Given the description of an element on the screen output the (x, y) to click on. 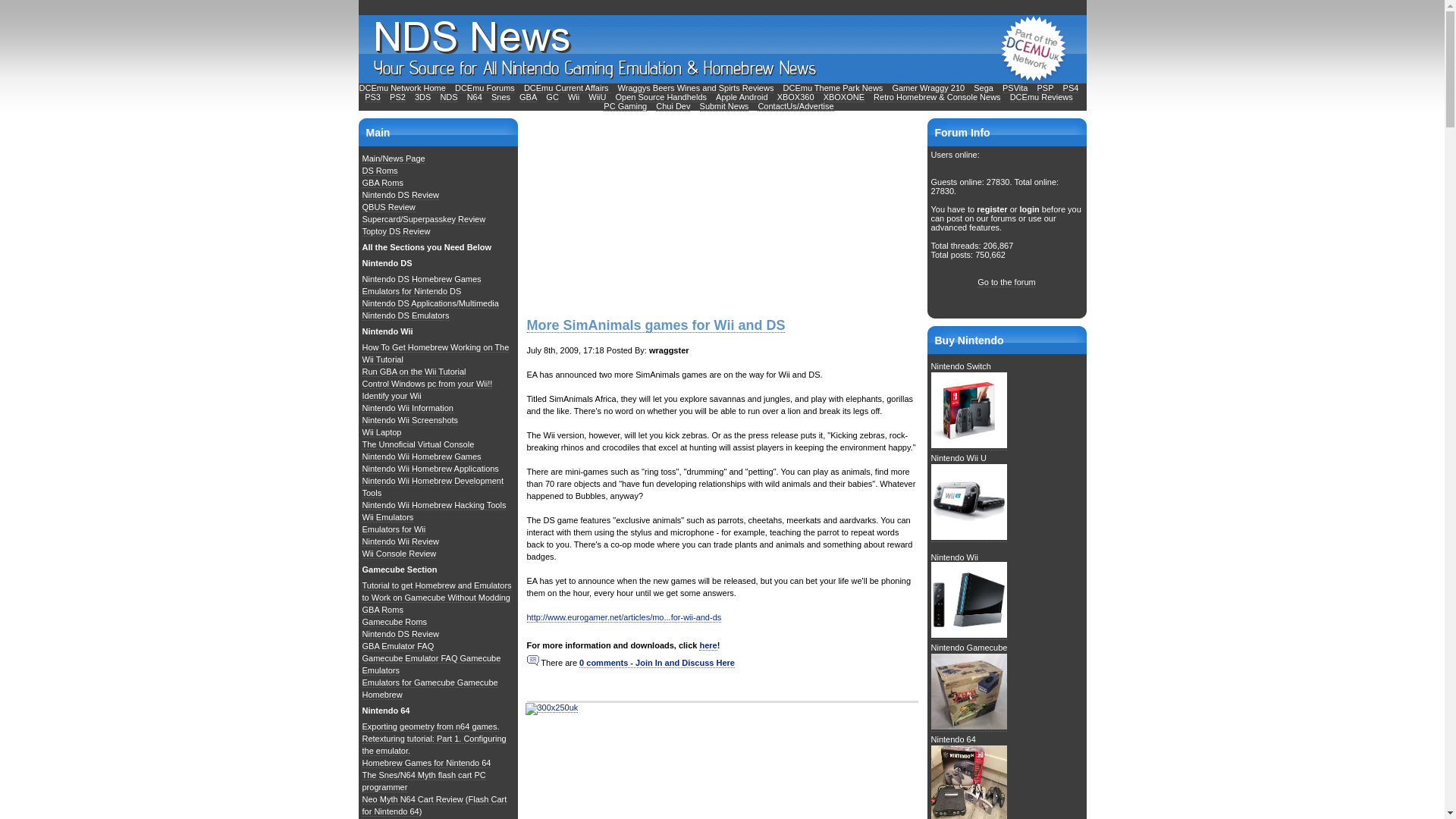
Apple Android (742, 97)
NDS (448, 97)
QBUS Review (388, 207)
DCEmu Forums (484, 88)
Toptoy DS Review (396, 231)
DS Roms (379, 171)
Nintendo DS Homebrew Games (421, 279)
DCEmu Current Affairs (567, 88)
Nintendo DS Review (400, 194)
Sega (983, 88)
